Given the description of an element on the screen output the (x, y) to click on. 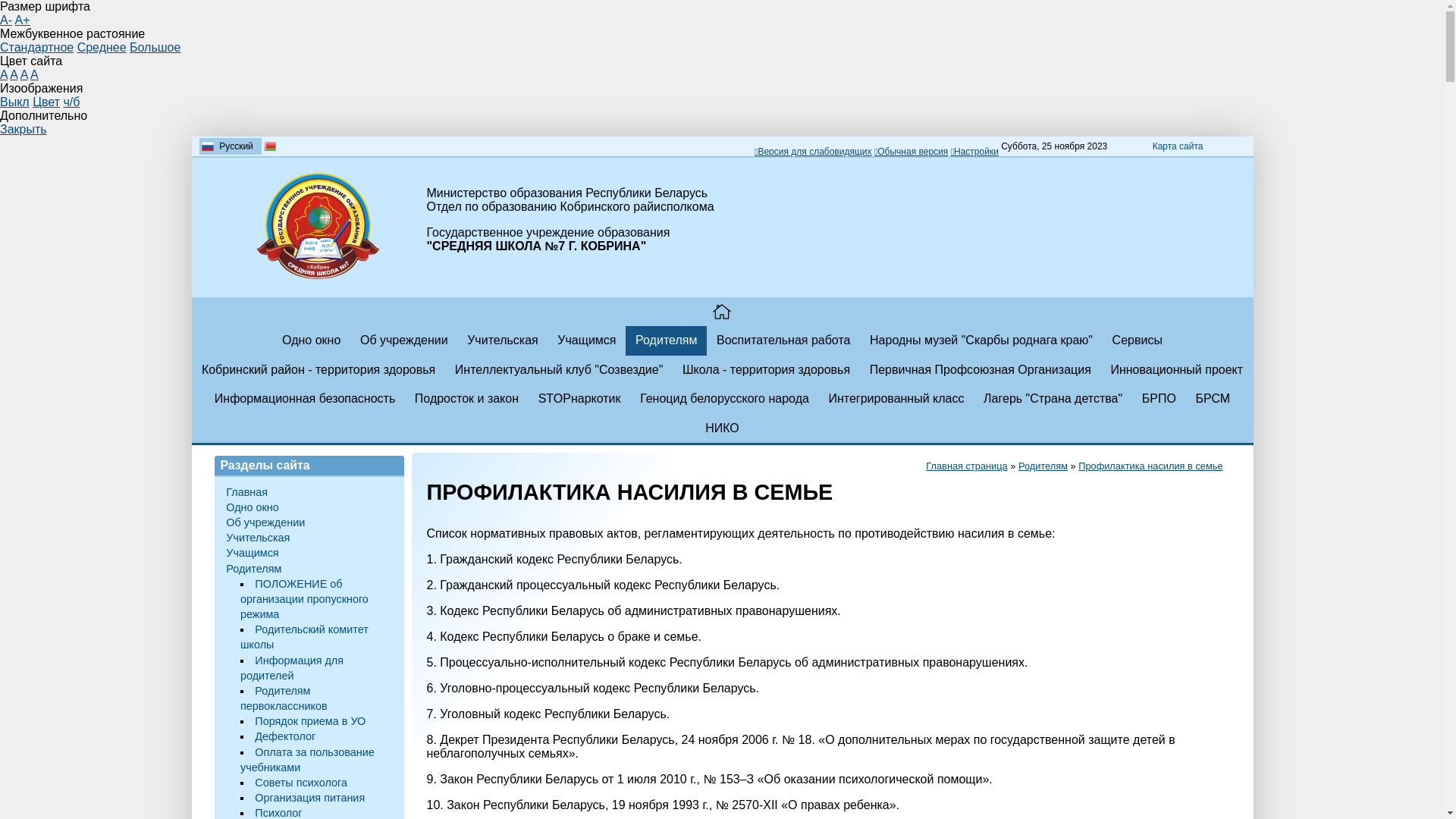
A Element type: text (3, 74)
A+ Element type: text (22, 19)
A Element type: text (13, 74)
A- Element type: text (6, 19)
A Element type: text (34, 74)
A Element type: text (24, 74)
